Given the description of an element on the screen output the (x, y) to click on. 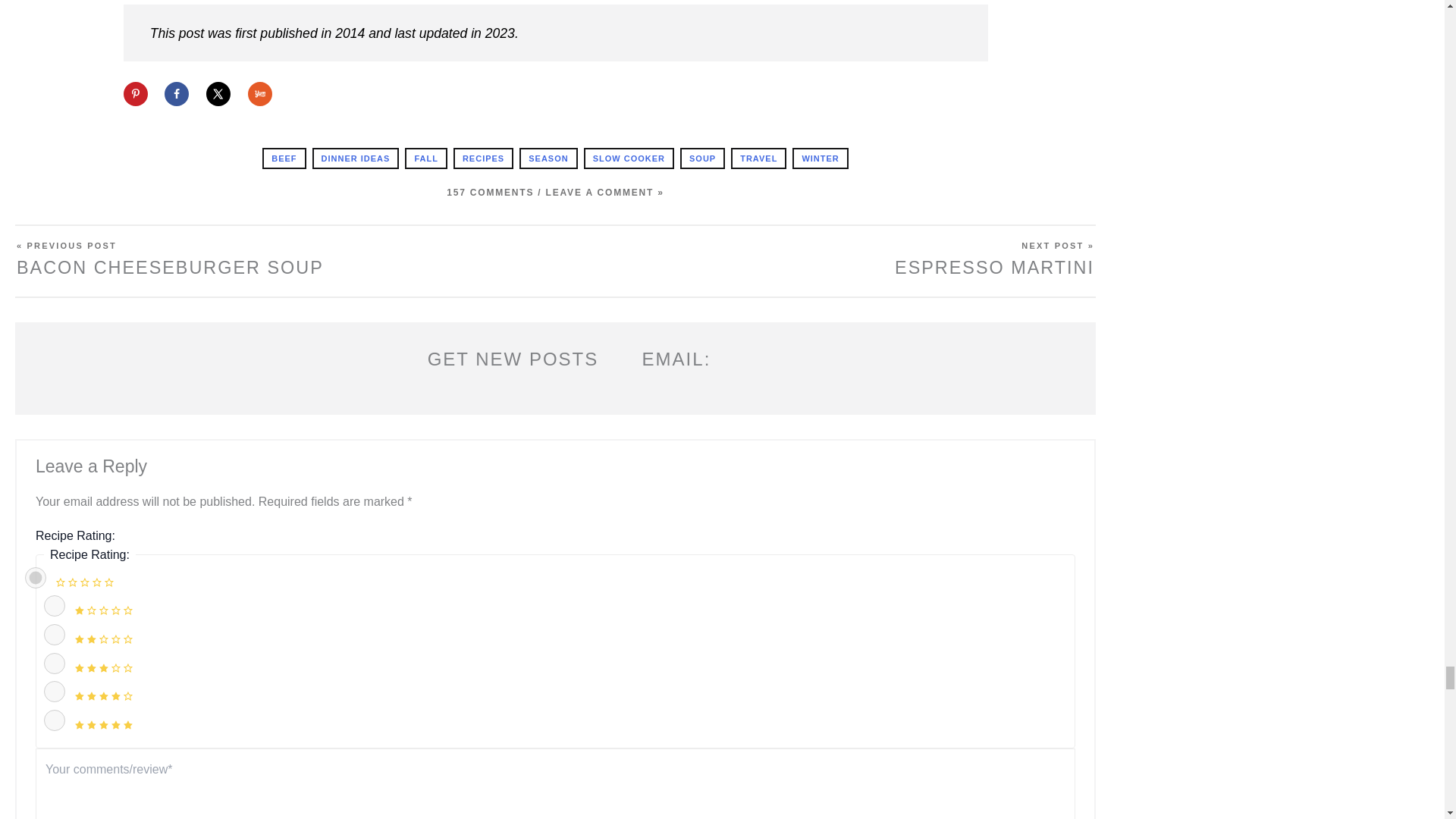
1 (54, 605)
5 (54, 720)
0 (35, 577)
2 (54, 634)
4 (54, 690)
3 (54, 663)
